Given the description of an element on the screen output the (x, y) to click on. 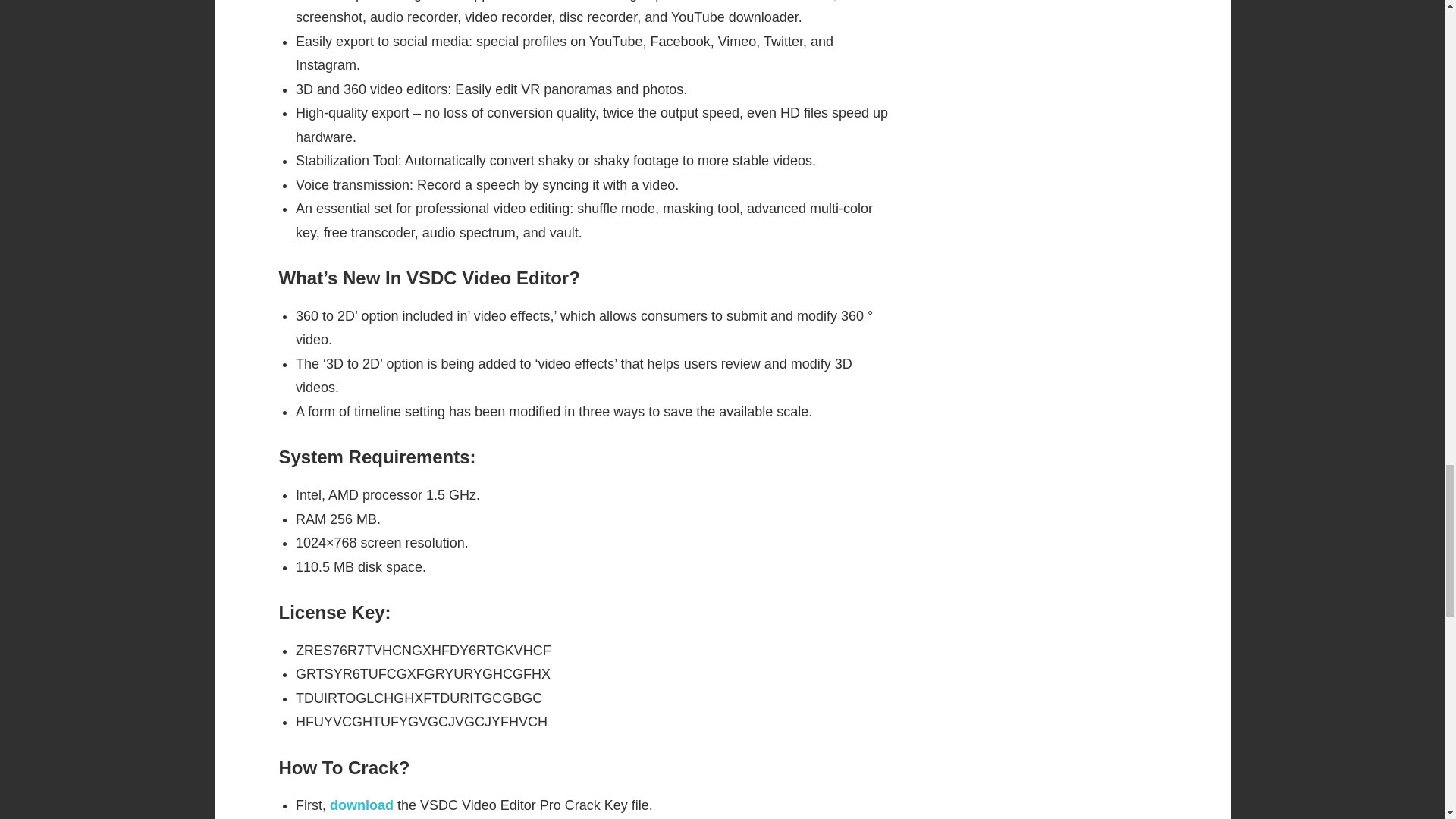
download (361, 805)
